Given the description of an element on the screen output the (x, y) to click on. 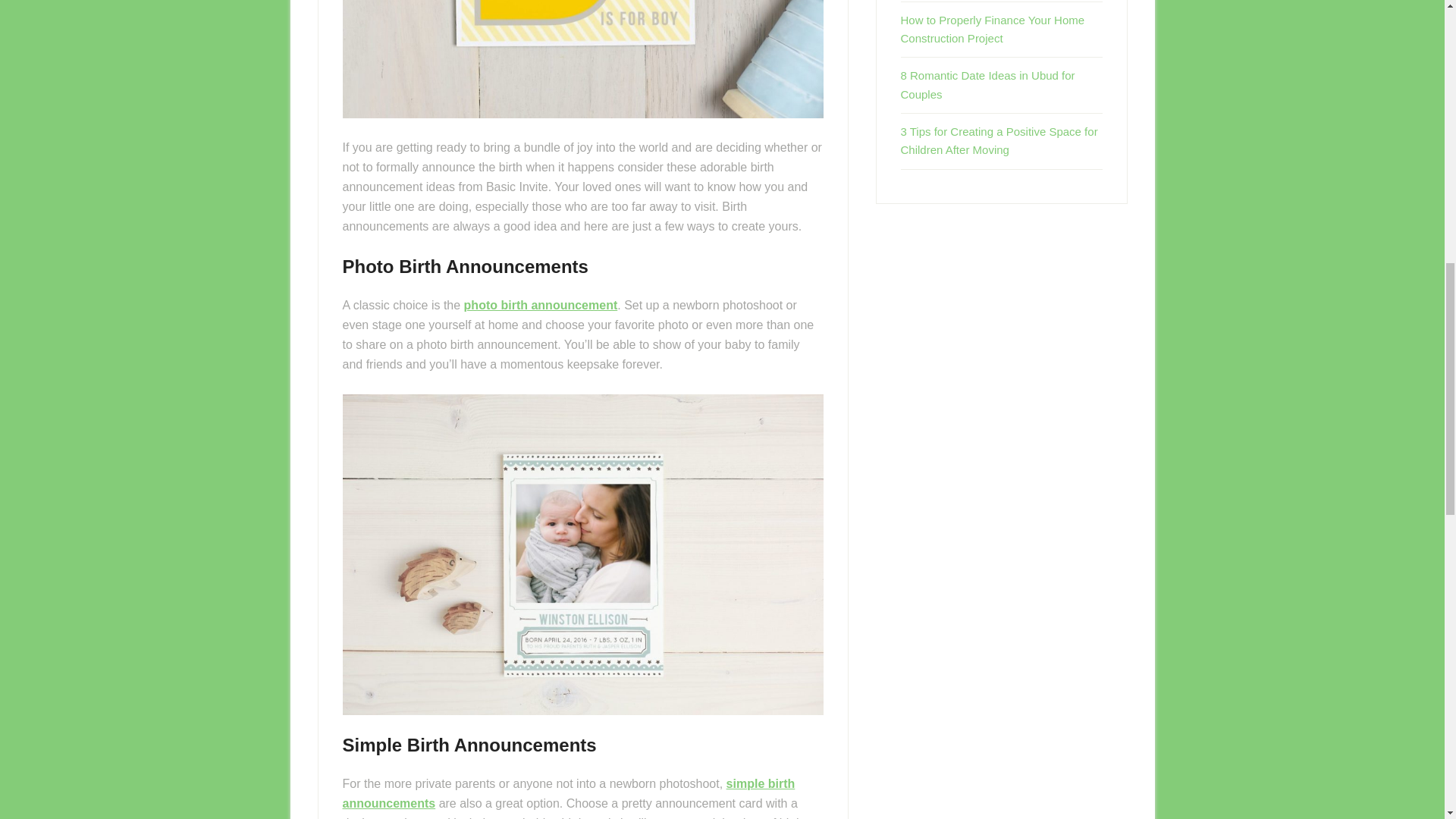
simple birth announcements (568, 793)
photo birth announcement (540, 305)
How to Properly Finance Your Home Construction Project (992, 29)
8 Romantic Date Ideas in Ubud for Couples (988, 83)
